Given the description of an element on the screen output the (x, y) to click on. 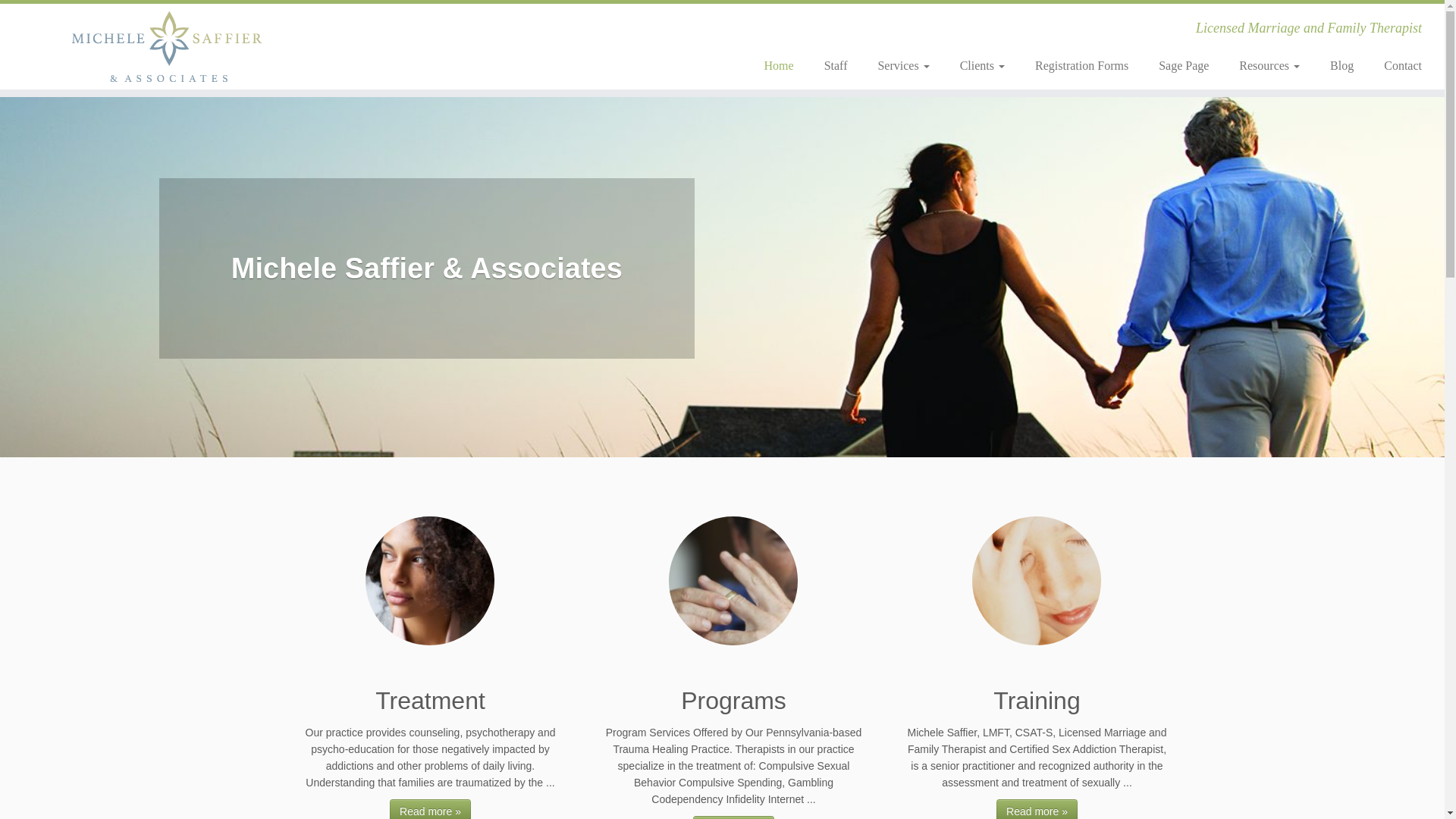
Resources (1269, 65)
Staff (836, 65)
Blog (1341, 65)
Sage Page (1183, 65)
Home (779, 65)
Registration Forms (1081, 65)
Services (902, 65)
Clients (982, 65)
Contact (1395, 65)
